Given the description of an element on the screen output the (x, y) to click on. 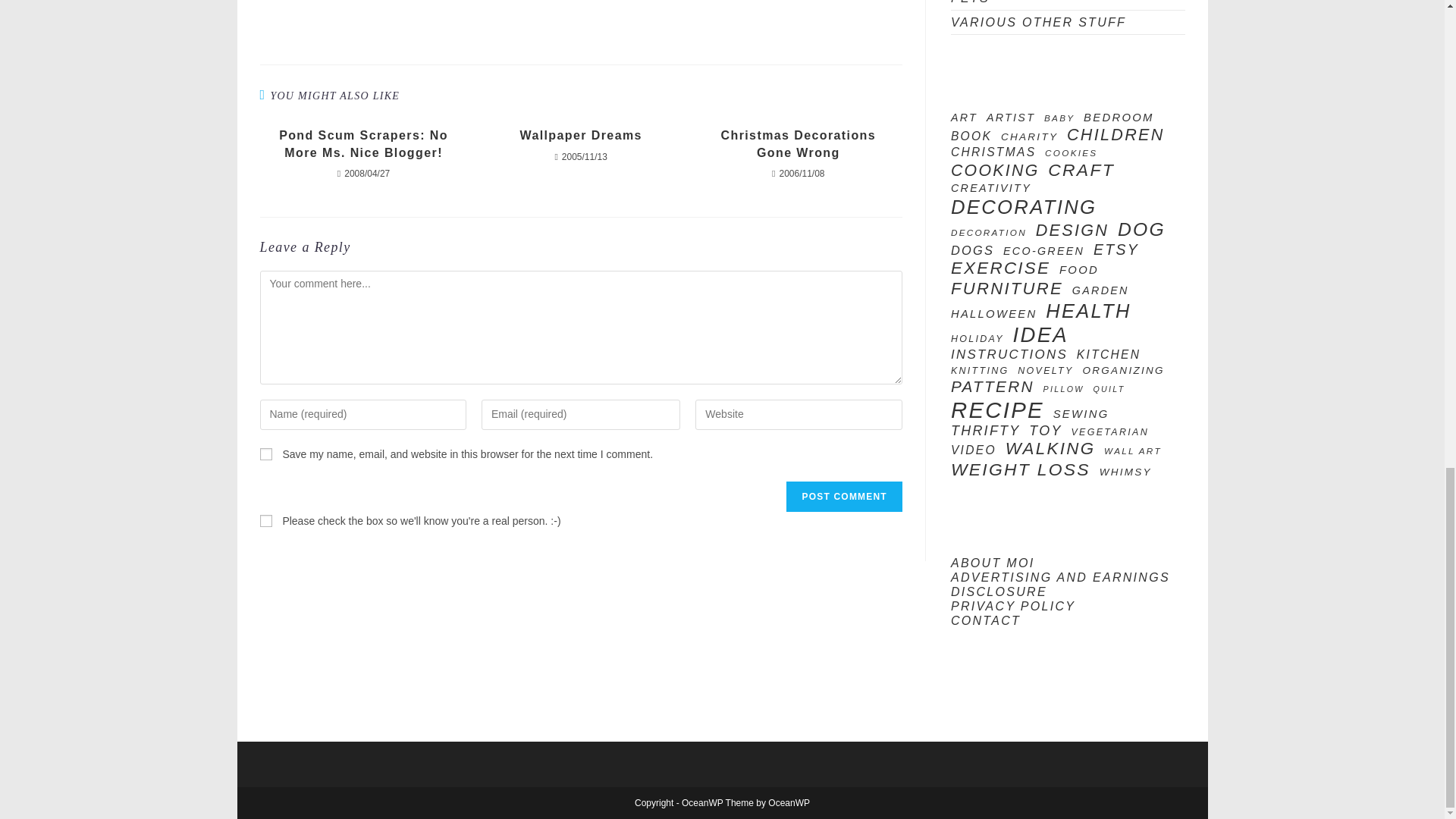
yes (264, 453)
Christmas Decorations Gone Wrong (798, 144)
Post Comment (843, 496)
Pond Scum Scrapers: No More Ms. Nice Blogger! (362, 144)
on (264, 521)
Wallpaper Dreams (580, 135)
Post Comment (843, 496)
